Given the description of an element on the screen output the (x, y) to click on. 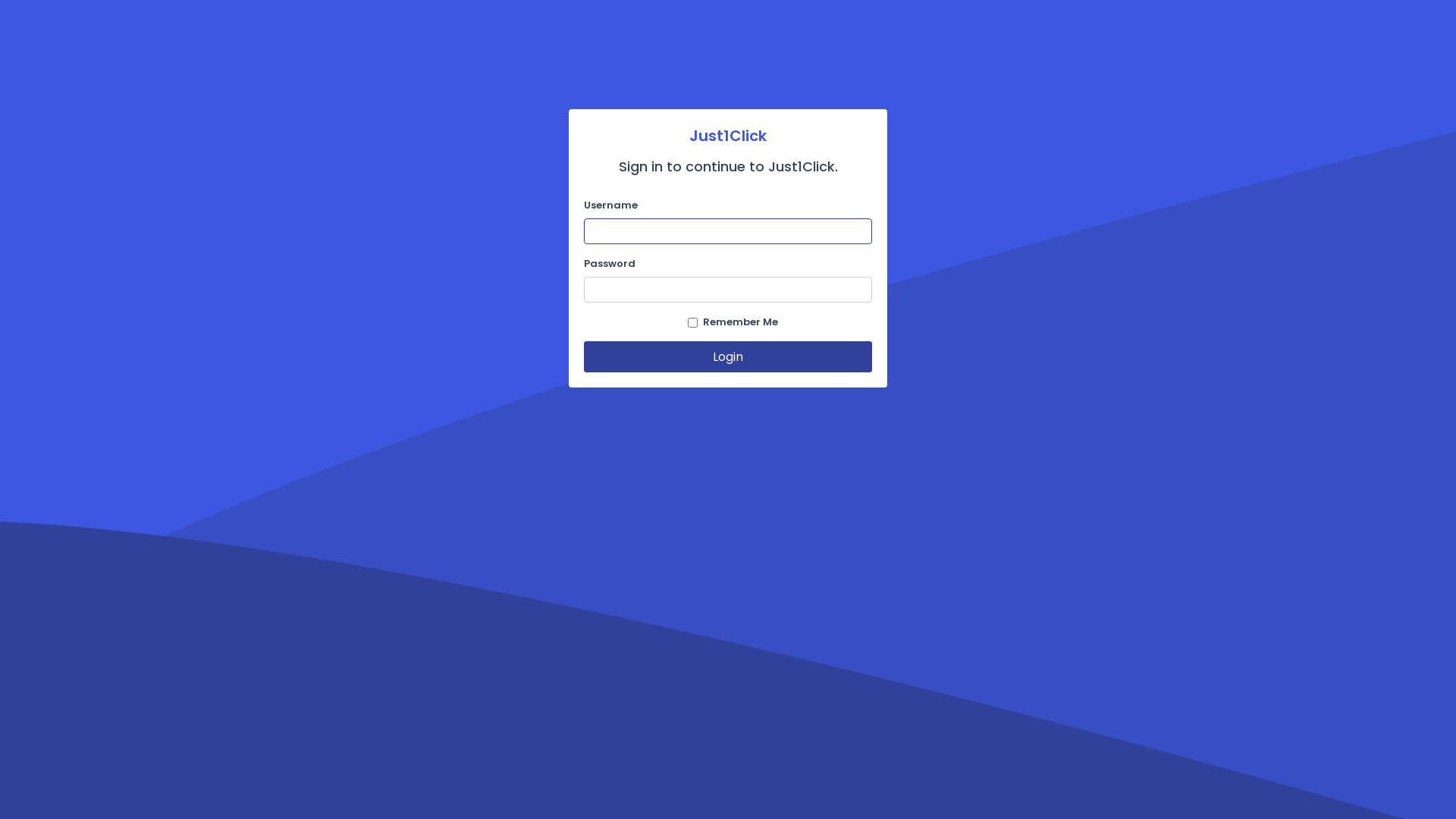
Just1Click Element type: text (727, 135)
Login Element type: text (727, 356)
